Given the description of an element on the screen output the (x, y) to click on. 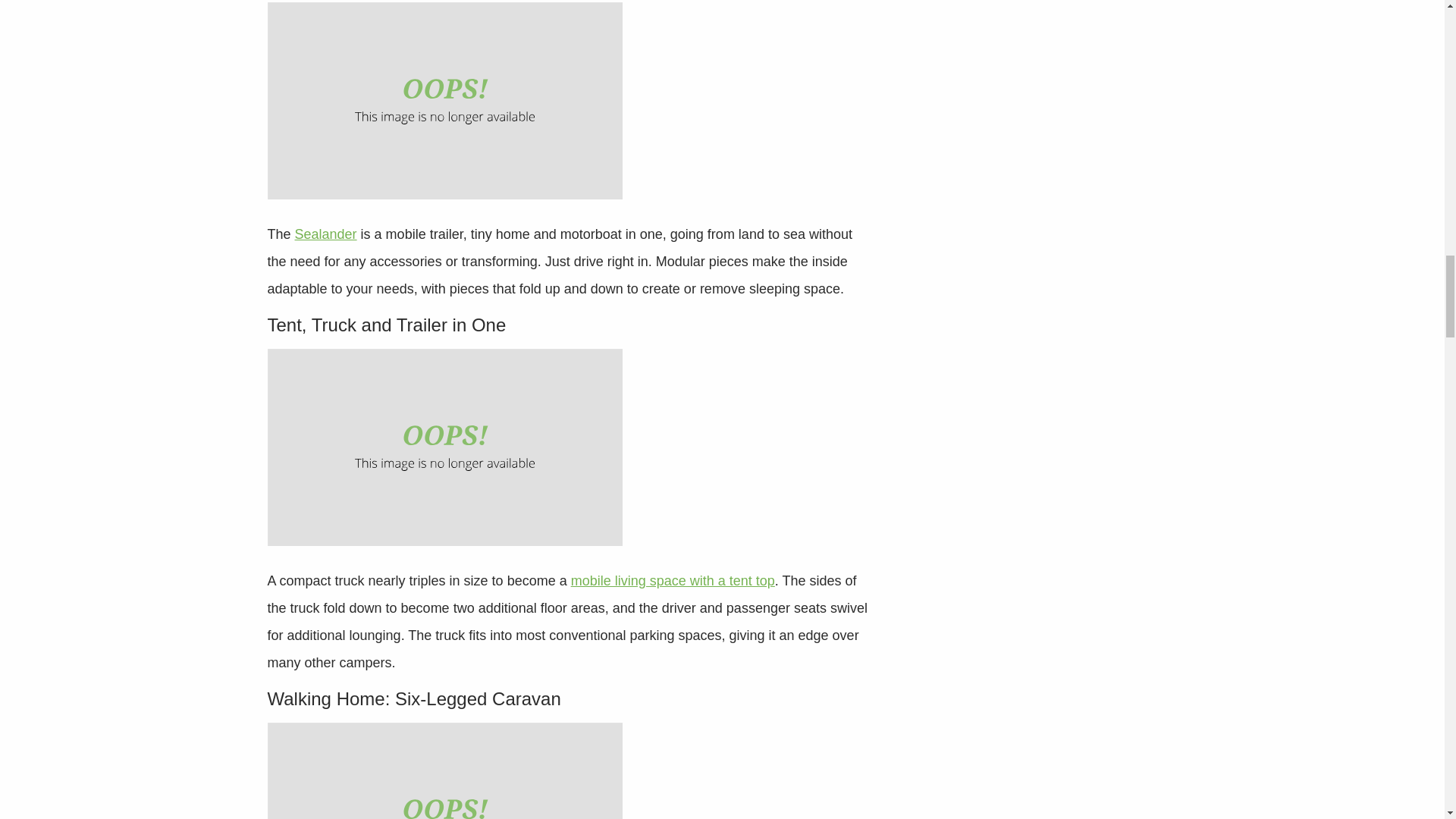
Crazy Campers SIx Legged Caravan (443, 770)
Sealander (325, 233)
mobile living space with a tent top (672, 580)
Crazy Campers Tent Truck Trailer (443, 447)
Crazy Campers Sealander (443, 100)
